Given the description of an element on the screen output the (x, y) to click on. 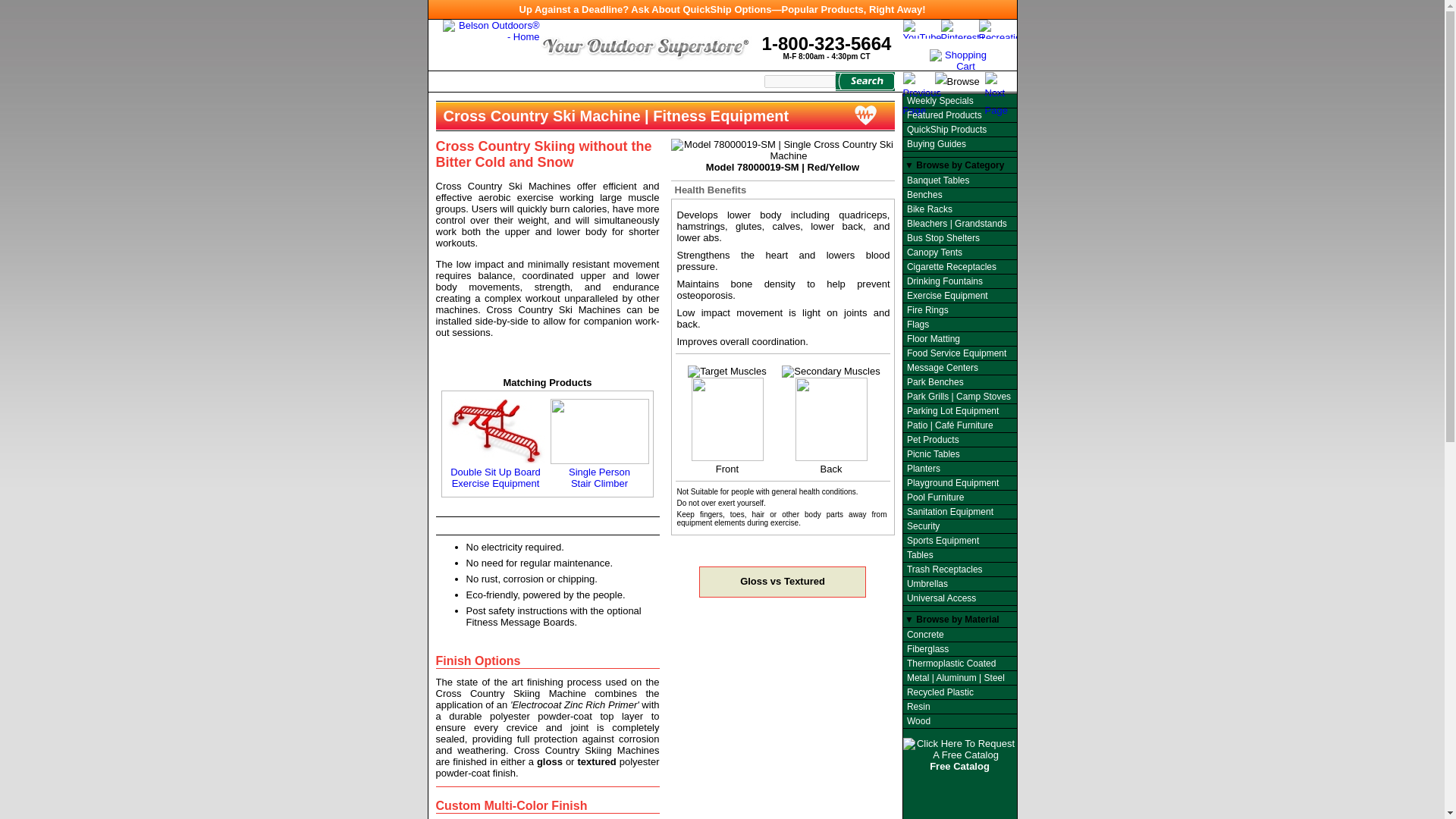
Watch Us on YouTube (921, 37)
Next Page (1000, 80)
Contact Us (569, 81)
Front (726, 426)
Shopping Cart (960, 66)
Back (830, 426)
Home (474, 81)
Pin with Us on Pinterest (826, 47)
About Us (962, 37)
Previous Page (516, 81)
Gloss vs Textured (918, 80)
FAQs (495, 443)
Site Map (782, 581)
